Given the description of an element on the screen output the (x, y) to click on. 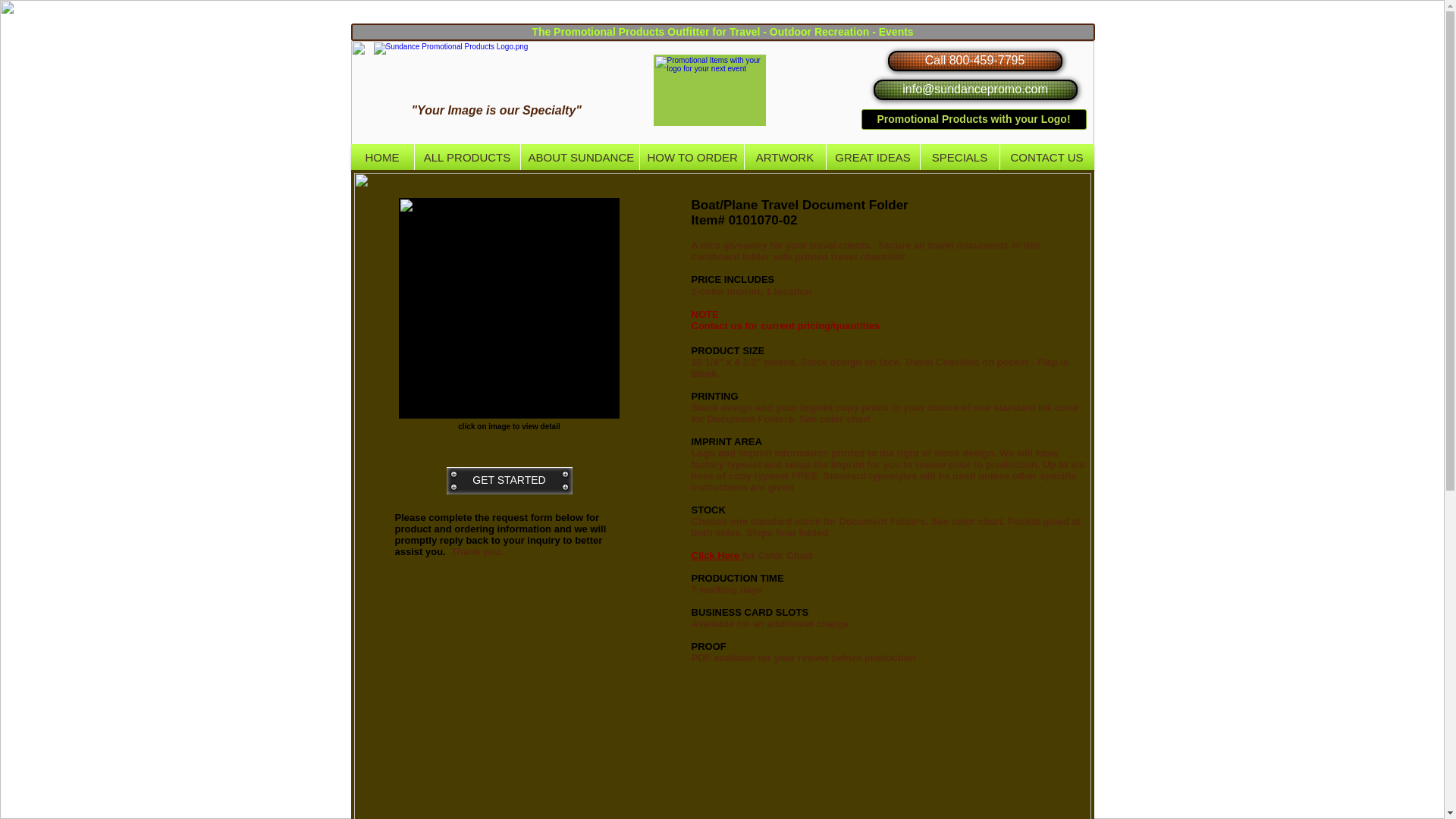
GREAT IDEAS (873, 157)
HOME (381, 157)
Promotional Products with your Logo! (973, 118)
Click Here (716, 555)
CONTACT US (1045, 157)
ALL PRODUCTS (466, 157)
Call 800-459-7795 (973, 60)
HOW TO ORDER (692, 157)
ABOUT SUNDANCE (579, 157)
GET STARTED (508, 480)
ARTWORK (784, 157)
SPECIALS (959, 157)
